Given the description of an element on the screen output the (x, y) to click on. 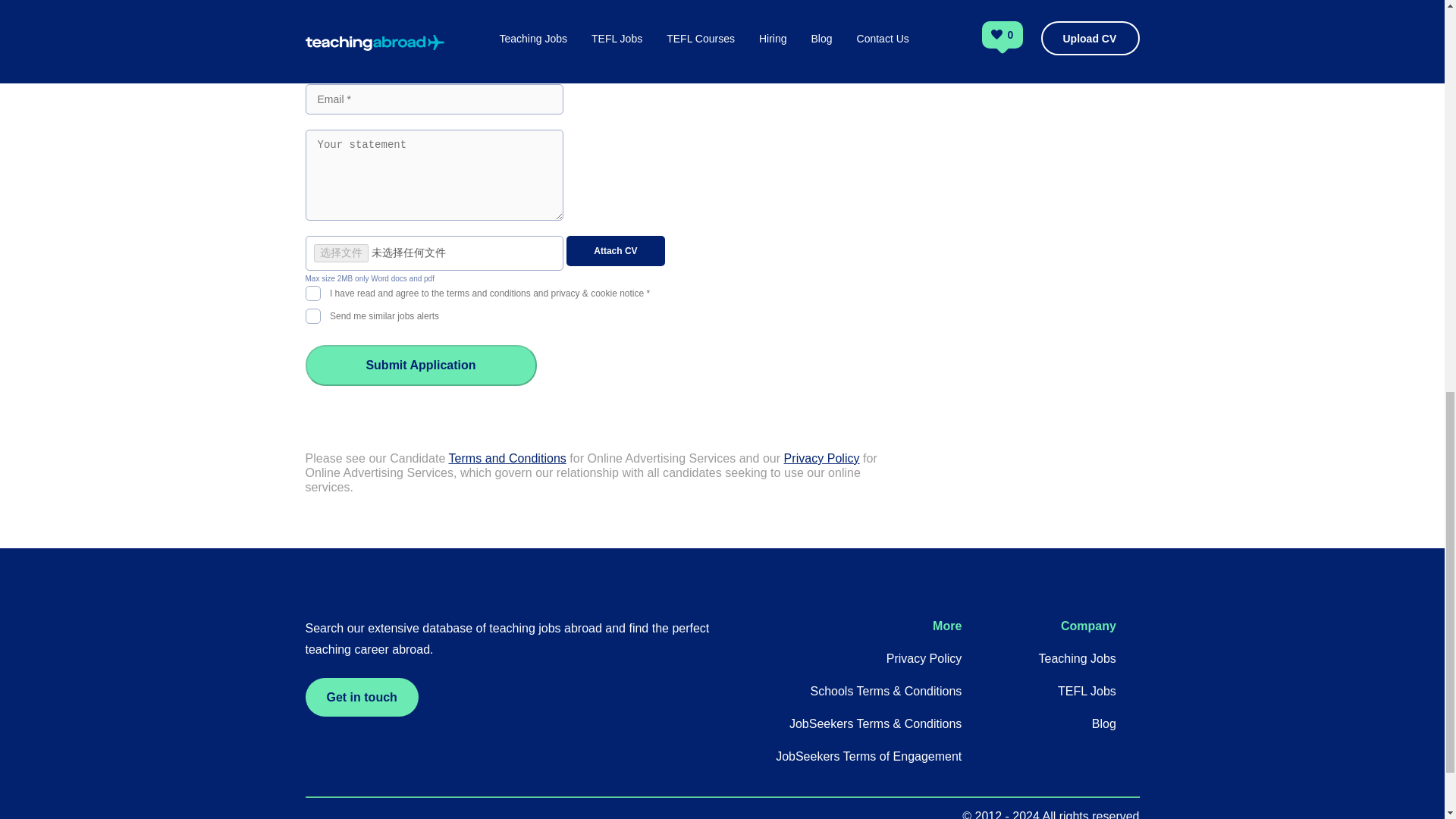
Please see our Candidate (376, 458)
Blog (1104, 723)
JobSeekers Terms of Engagement (868, 756)
on (312, 291)
Teaching Jobs (1077, 658)
on (312, 314)
Terms and Conditions (507, 458)
Submit Application (419, 364)
TEFL Jobs (1087, 690)
Privacy Policy (822, 458)
Get in touch (360, 697)
Privacy Policy (924, 658)
